Given the description of an element on the screen output the (x, y) to click on. 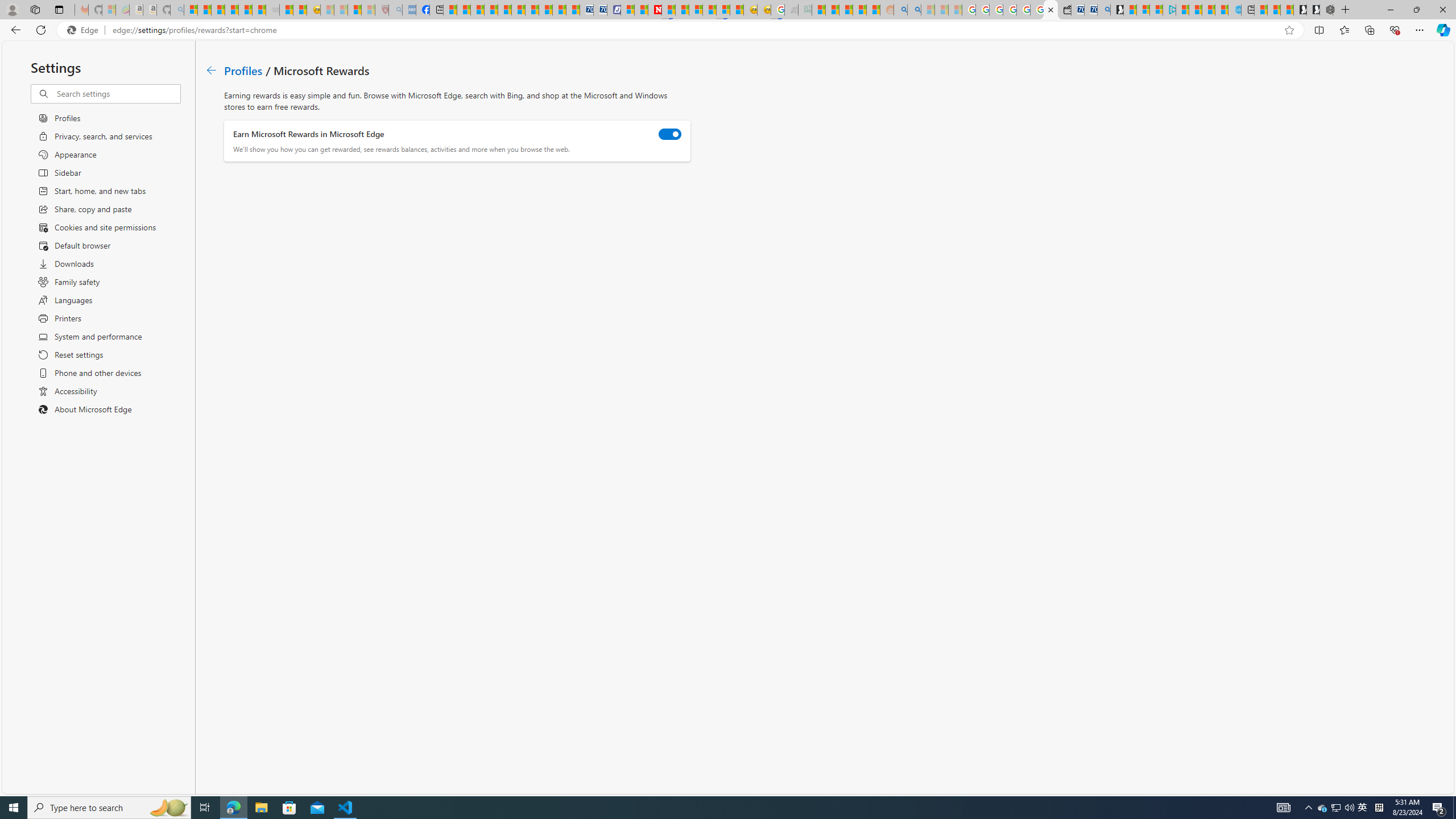
Climate Damage Becomes Too Severe To Reverse (490, 9)
Combat Siege - Sleeping (271, 9)
